Given the description of an element on the screen output the (x, y) to click on. 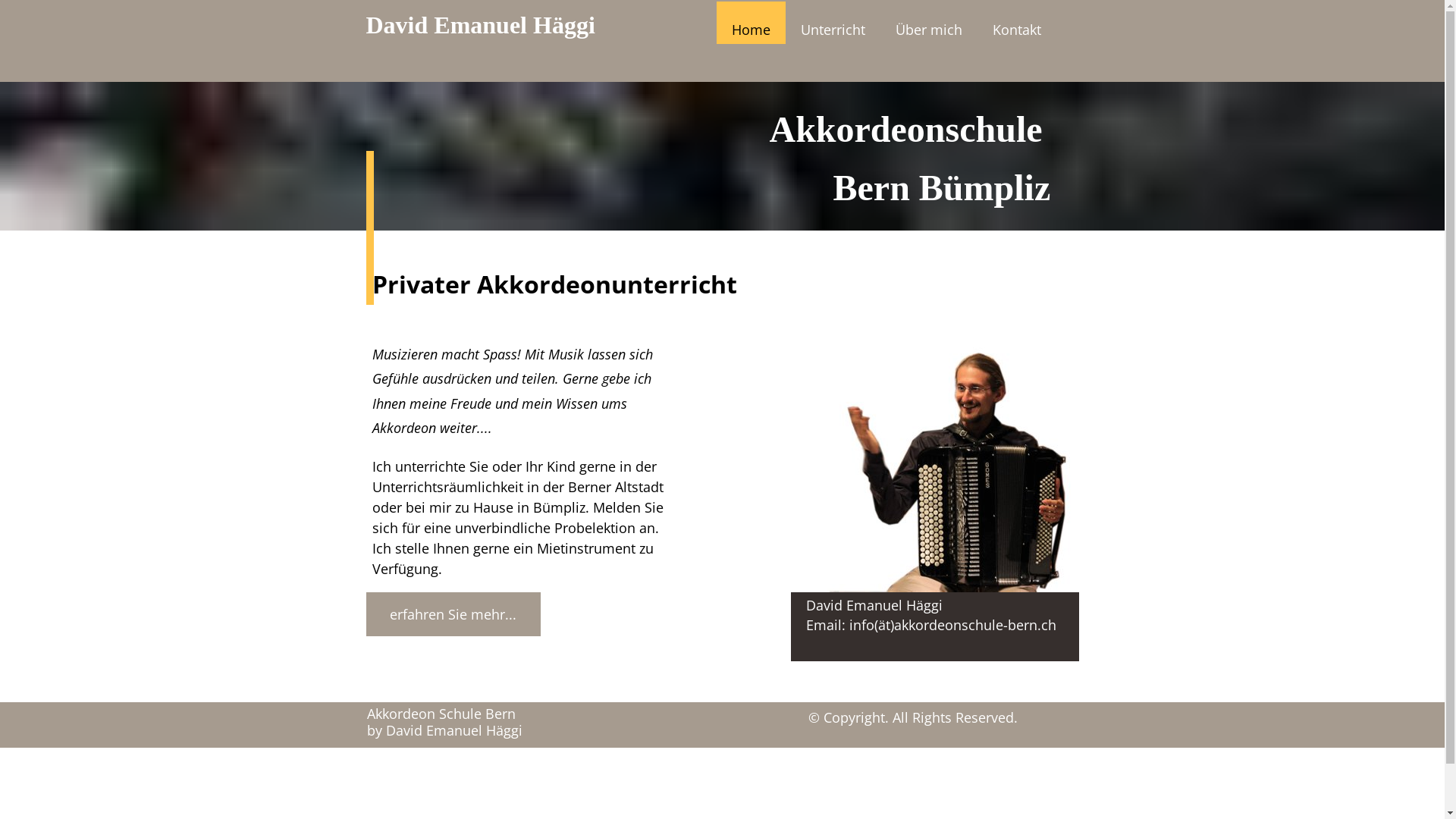
erfahren Sie mehr... Element type: text (452, 614)
Kontakt Element type: text (1015, 22)
Unterricht Element type: text (832, 22)
Home Element type: text (749, 22)
